Given the description of an element on the screen output the (x, y) to click on. 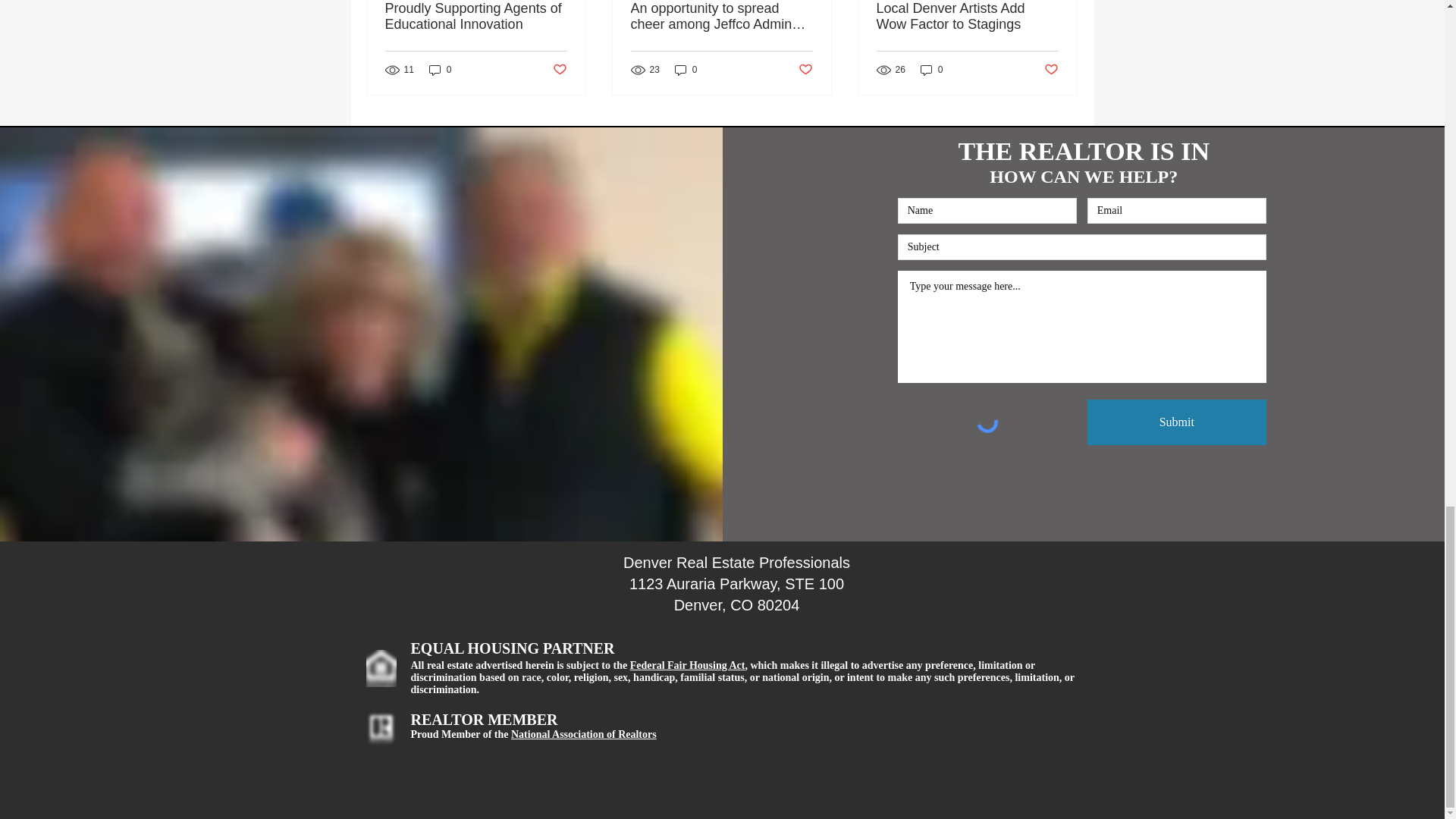
0 (685, 69)
Federal Fair Housing Act (687, 665)
0 (931, 69)
Local Denver Artists Add Wow Factor to Stagings (967, 16)
An opportunity to spread cheer among Jeffco Admin Team (721, 16)
Proudly Supporting Agents of Educational Innovation (476, 16)
Post not marked as liked (804, 69)
Submit (1176, 422)
Post not marked as liked (1050, 69)
0 (440, 69)
Post not marked as liked (558, 69)
